Given the description of an element on the screen output the (x, y) to click on. 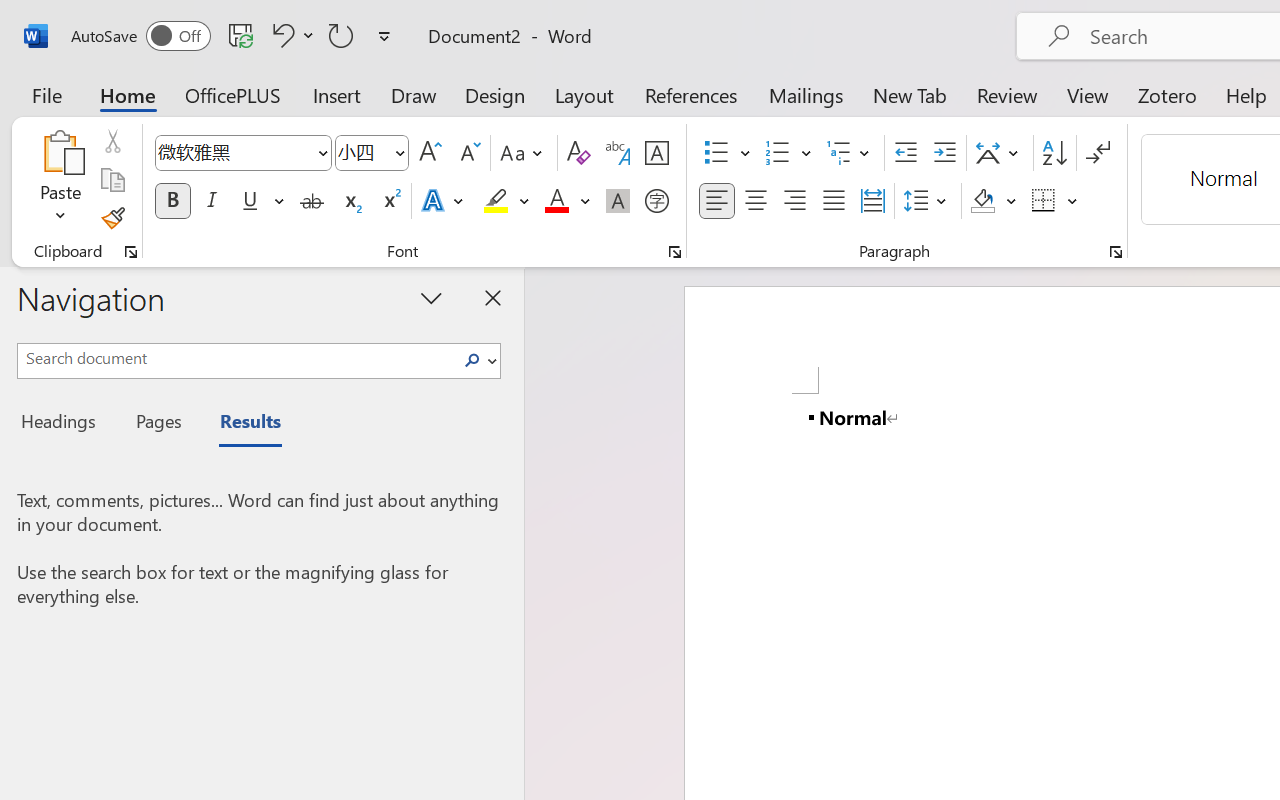
Change Case (524, 153)
Font Size (362, 152)
Increase Indent (944, 153)
Shading RGB(0, 0, 0) (982, 201)
Line and Paragraph Spacing (927, 201)
Sort... (1054, 153)
Underline (250, 201)
Subscript (350, 201)
Bold (172, 201)
Shading (993, 201)
Underline (261, 201)
Repeat Doc Close (341, 35)
Numbering (778, 153)
